Given the description of an element on the screen output the (x, y) to click on. 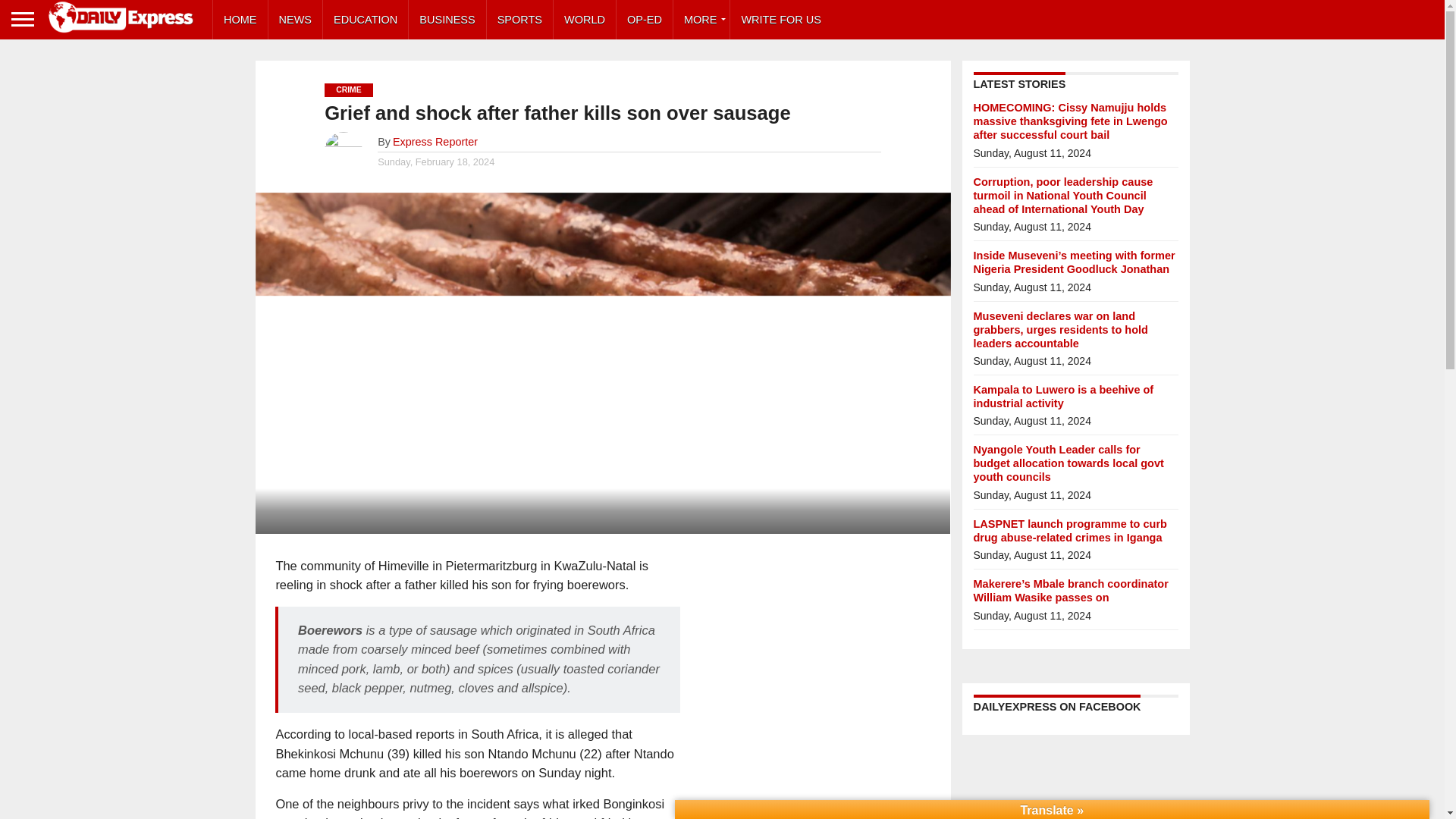
NEWS (295, 19)
HOME (239, 19)
Express Reporter (435, 141)
OP-ED (643, 19)
WRITE FOR US (780, 19)
EDUCATION (365, 19)
MORE (701, 19)
Posts by Express Reporter (435, 141)
BUSINESS (446, 19)
WORLD (584, 19)
